Given the description of an element on the screen output the (x, y) to click on. 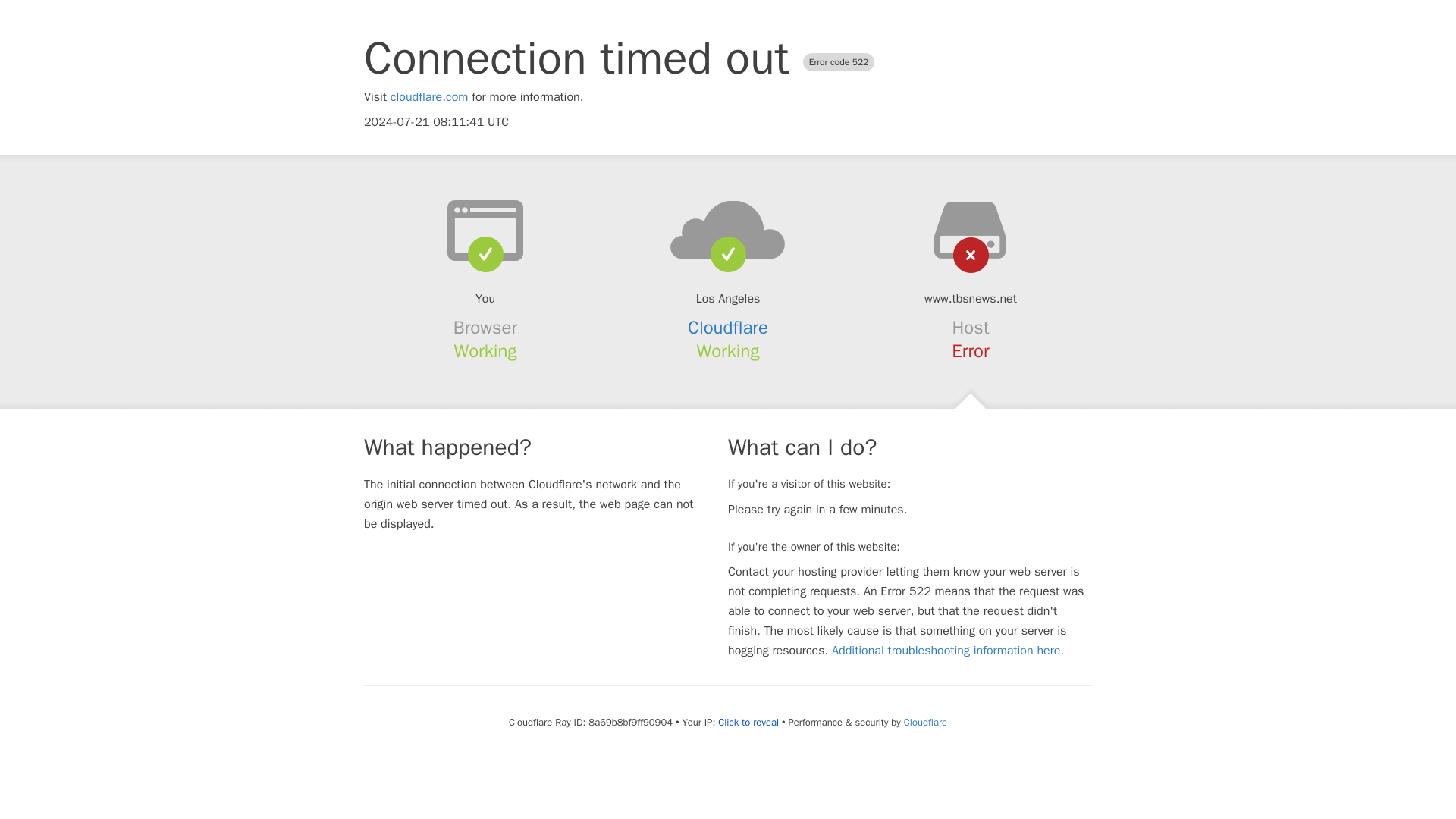
cloudflare.com (429, 96)
Cloudflare (925, 721)
Click to reveal (747, 722)
Additional troubleshooting information here. (947, 650)
Cloudflare (727, 327)
